Given the description of an element on the screen output the (x, y) to click on. 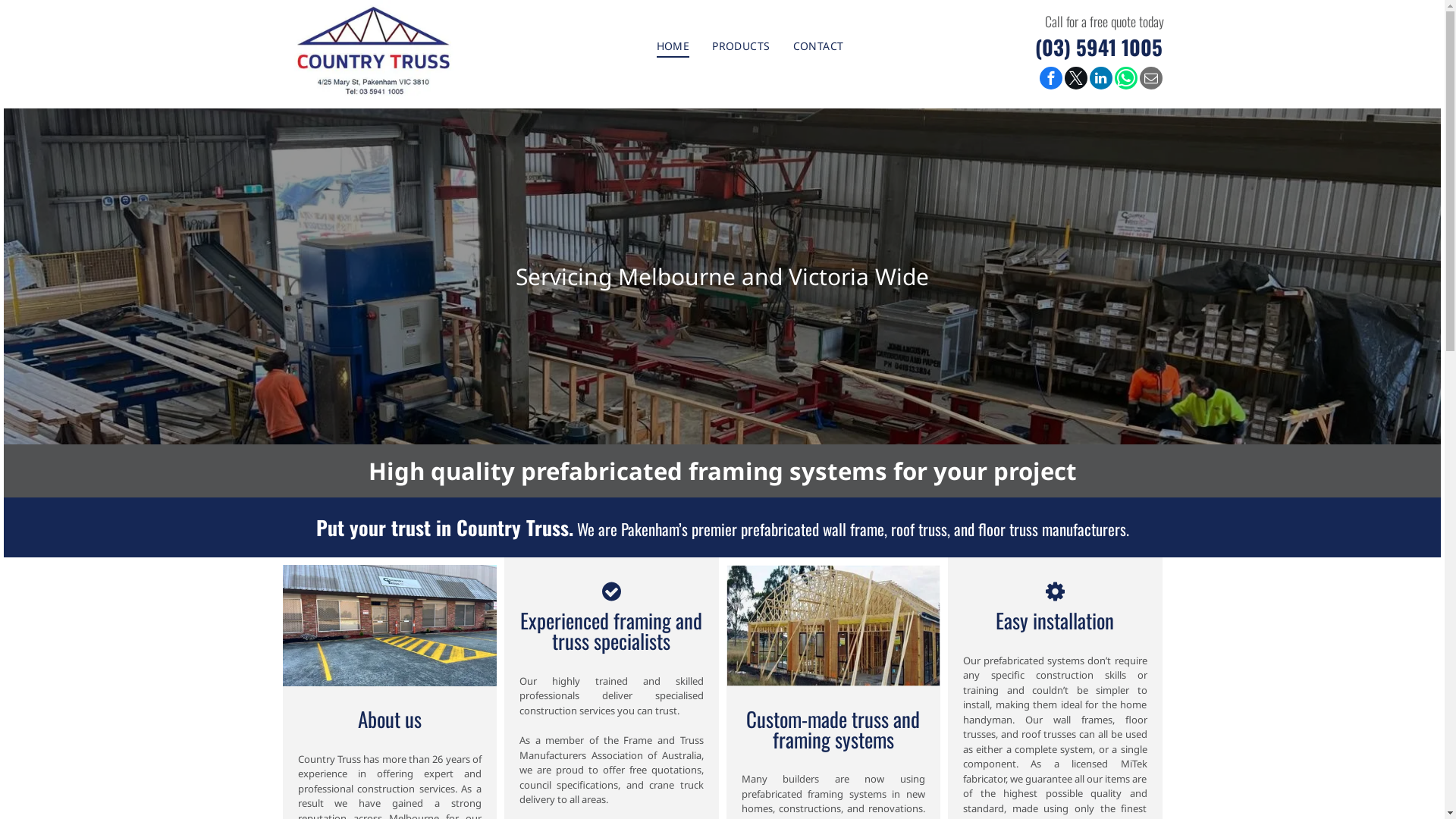
(03) 5941 1005 Element type: text (1097, 46)
HOME Element type: text (673, 45)
CONTACT Element type: text (818, 45)
Double story house frame Element type: hover (389, 625)
PRODUCTS Element type: text (740, 45)
Single level dwelling frame Element type: hover (833, 625)
